Given the description of an element on the screen output the (x, y) to click on. 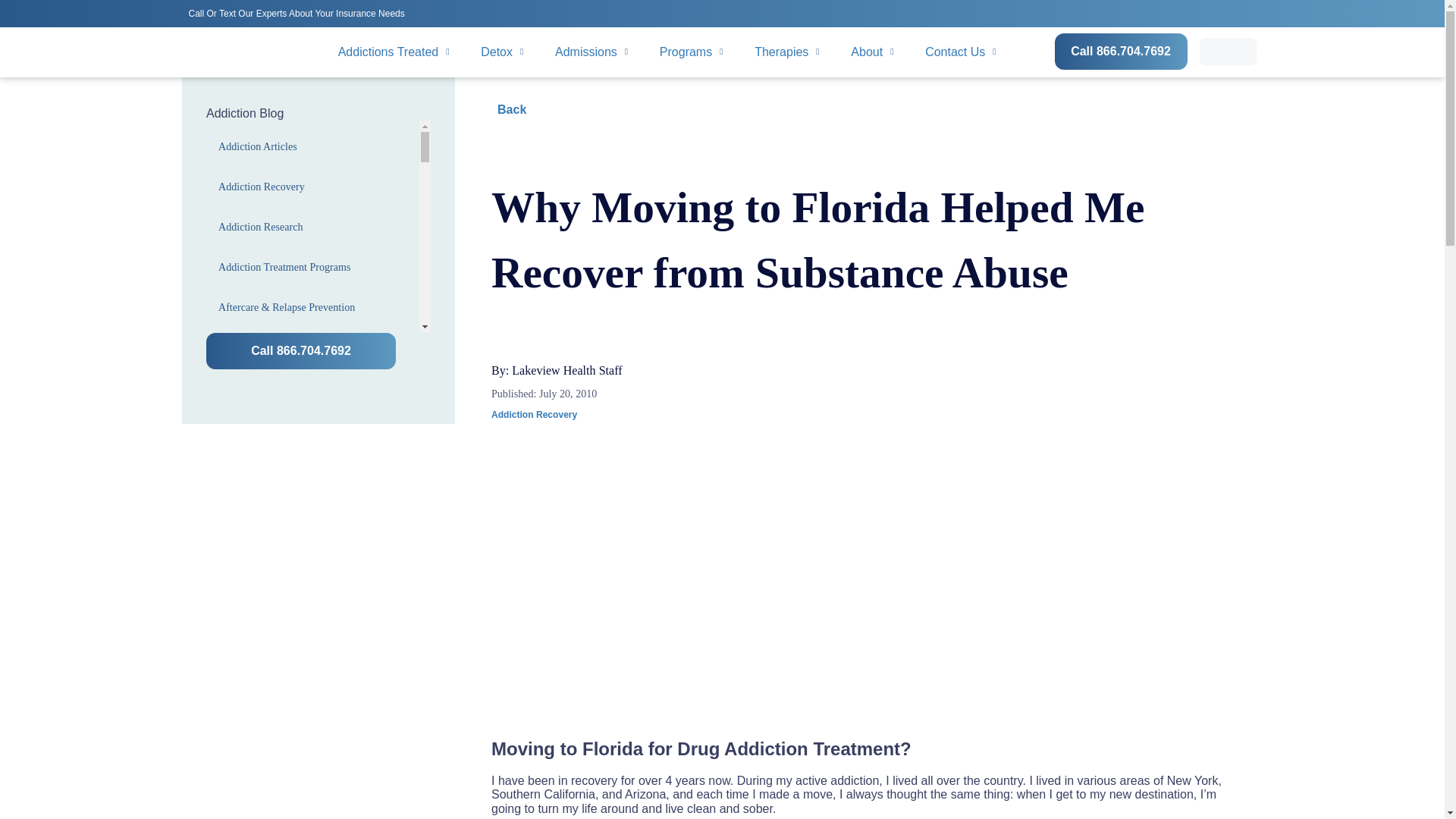
Addictions Treated (394, 51)
Therapies (787, 51)
Admissions (591, 51)
Call Or Text Our Experts About Your Insurance Needs (298, 12)
Programs (691, 51)
Detox (502, 51)
